Given the description of an element on the screen output the (x, y) to click on. 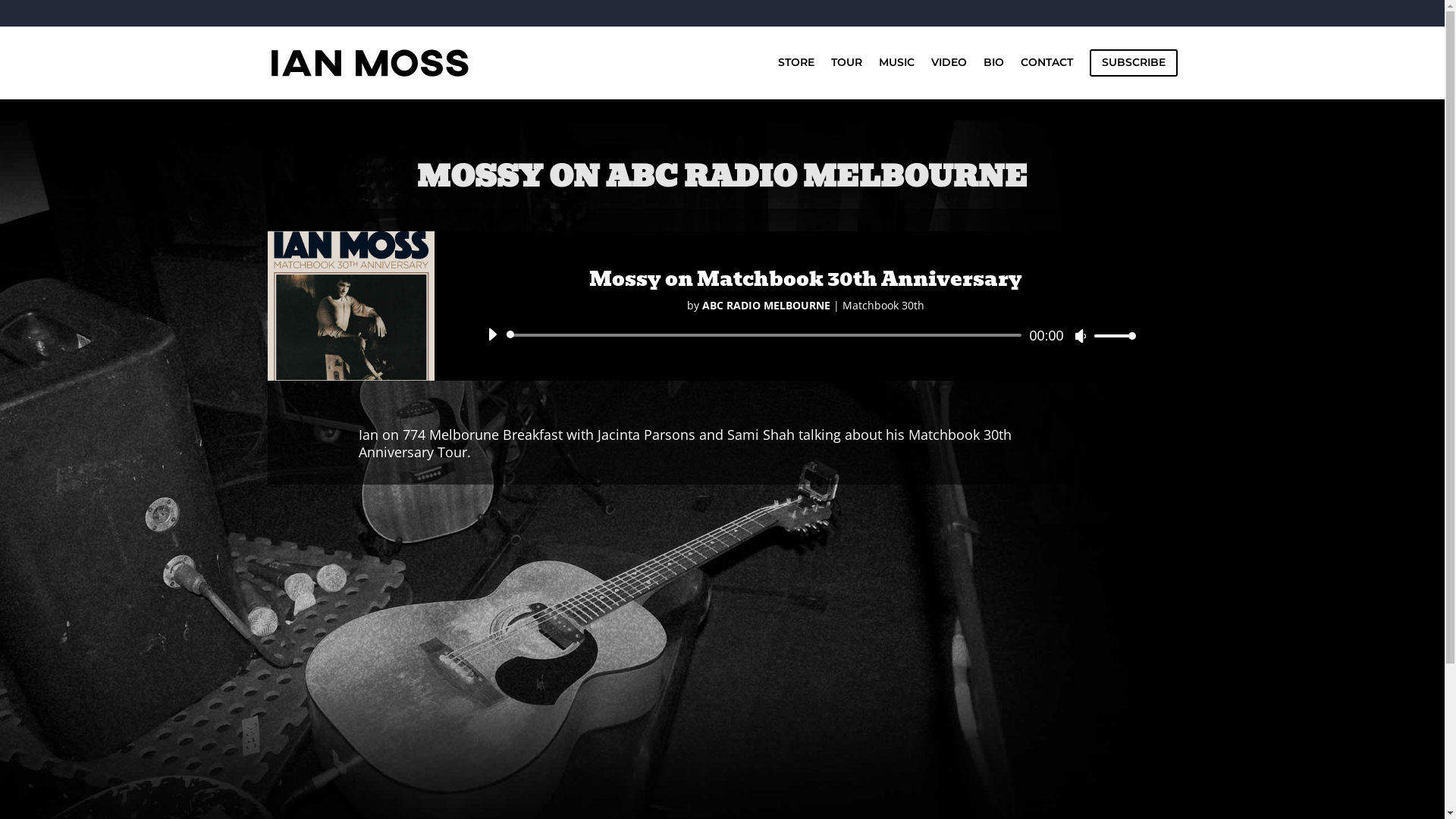
Mute Element type: hover (1080, 335)
CONTACT Element type: text (1046, 73)
Play Element type: hover (491, 334)
SUBSCRIBE Element type: text (1132, 74)
MUSIC Element type: text (895, 73)
TOUR Element type: text (846, 73)
Use Up/Down Arrow keys to increase or decrease volume. Element type: text (1109, 335)
STORE Element type: text (796, 73)
VIDEO Element type: text (948, 73)
BIO Element type: text (992, 73)
